Given the description of an element on the screen output the (x, y) to click on. 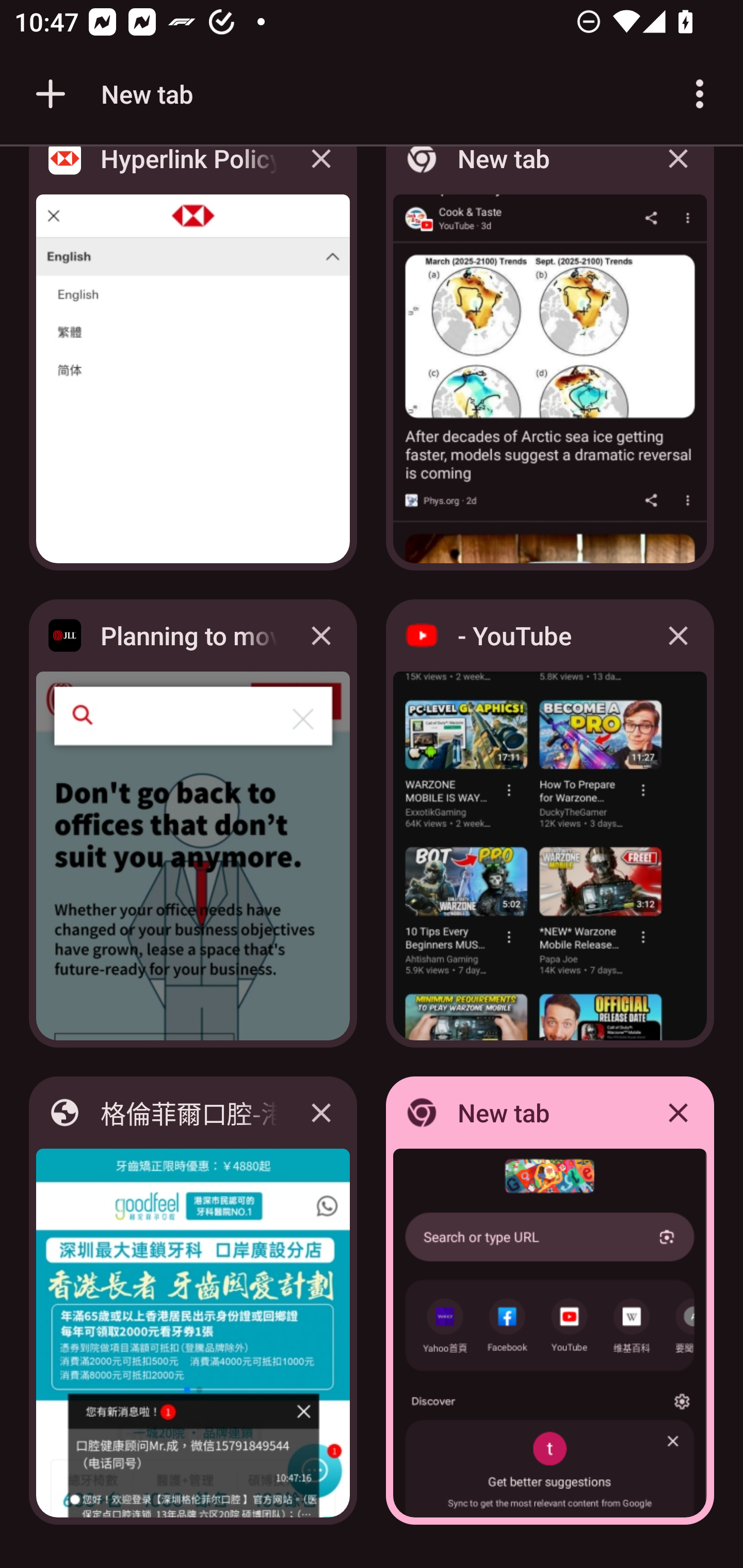
New tab (111, 93)
Customize and control Google Chrome (699, 93)
Close Hyperlink Policy - HSBC HK tab (320, 173)
New tab New tab, tab Close New tab tab (549, 364)
Close New tab tab (677, 173)
- YouTube - YouTube, tab Close - YouTube tab (549, 822)
Close - YouTube tab (677, 635)
New tab New tab, tab Close New tab tab (549, 1300)
Close 格倫菲爾口腔-港深市民認可的牙科醫院NO.1 tab (320, 1112)
Close New tab tab (677, 1112)
